Given the description of an element on the screen output the (x, y) to click on. 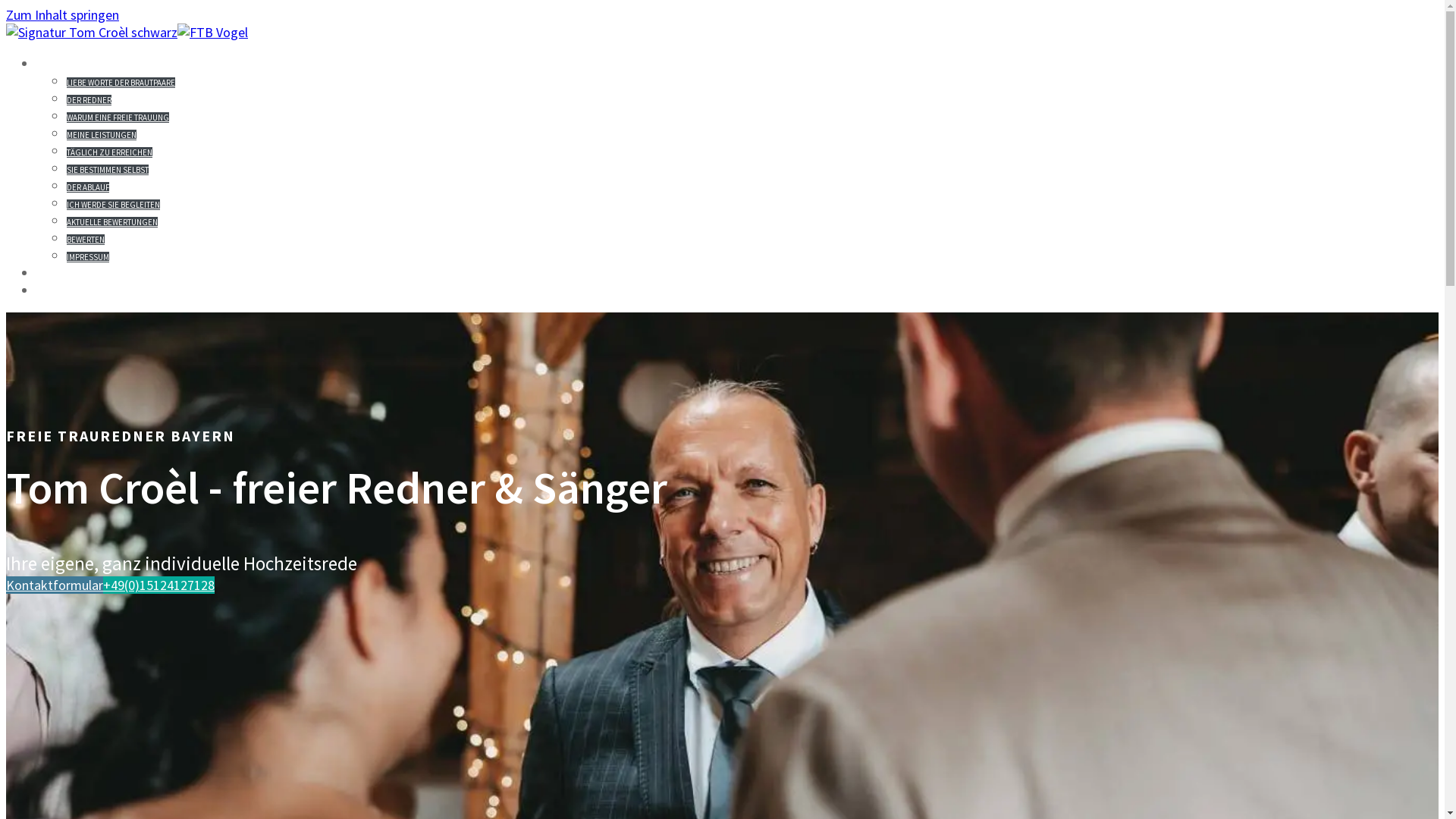
MEINE LEISTUNGEN Element type: text (101, 134)
HOME Element type: text (58, 63)
WARUM EINE FREIE TRAUUNG Element type: text (117, 117)
BEWERTEN Element type: text (85, 239)
SIE BESTIMMEN SELBST Element type: text (107, 169)
Zum Inhalt springen Element type: text (62, 14)
LIEBE WORTE DER BRAUTPAARE Element type: text (120, 82)
DATENSCHUTZBESTIMMUNGEN Element type: text (156, 289)
+49(0)15124127128 Element type: text (158, 584)
IMPRESSUM Element type: text (87, 256)
DER ABLAUF Element type: text (87, 187)
ICH WERDE SIE BEGLEITEN Element type: text (113, 204)
Kontaktformular Element type: text (54, 584)
DER REDNER Element type: text (88, 99)
KONTAKT Element type: text (73, 272)
AKTUELLE BEWERTUNGEN Element type: text (111, 221)
